Given the description of an element on the screen output the (x, y) to click on. 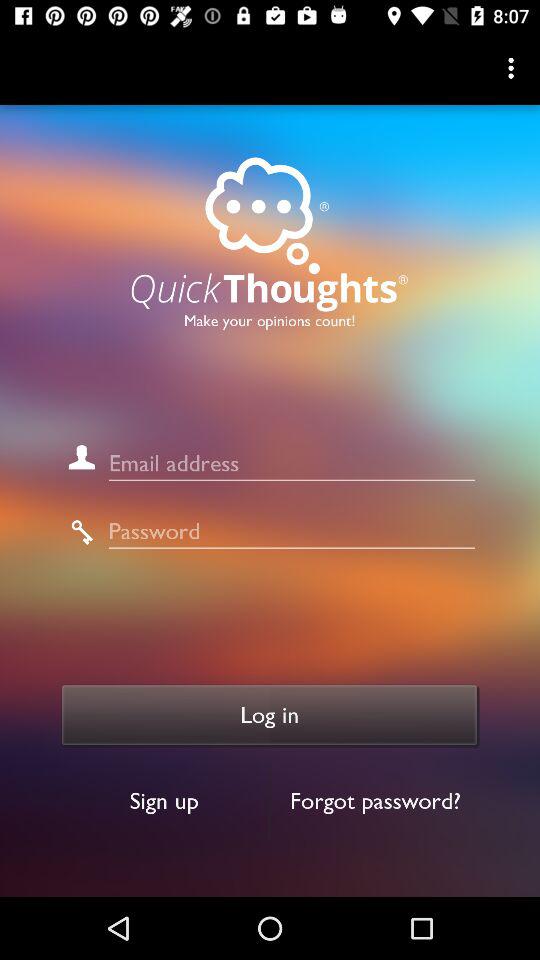
tap the item below log in item (375, 800)
